Given the description of an element on the screen output the (x, y) to click on. 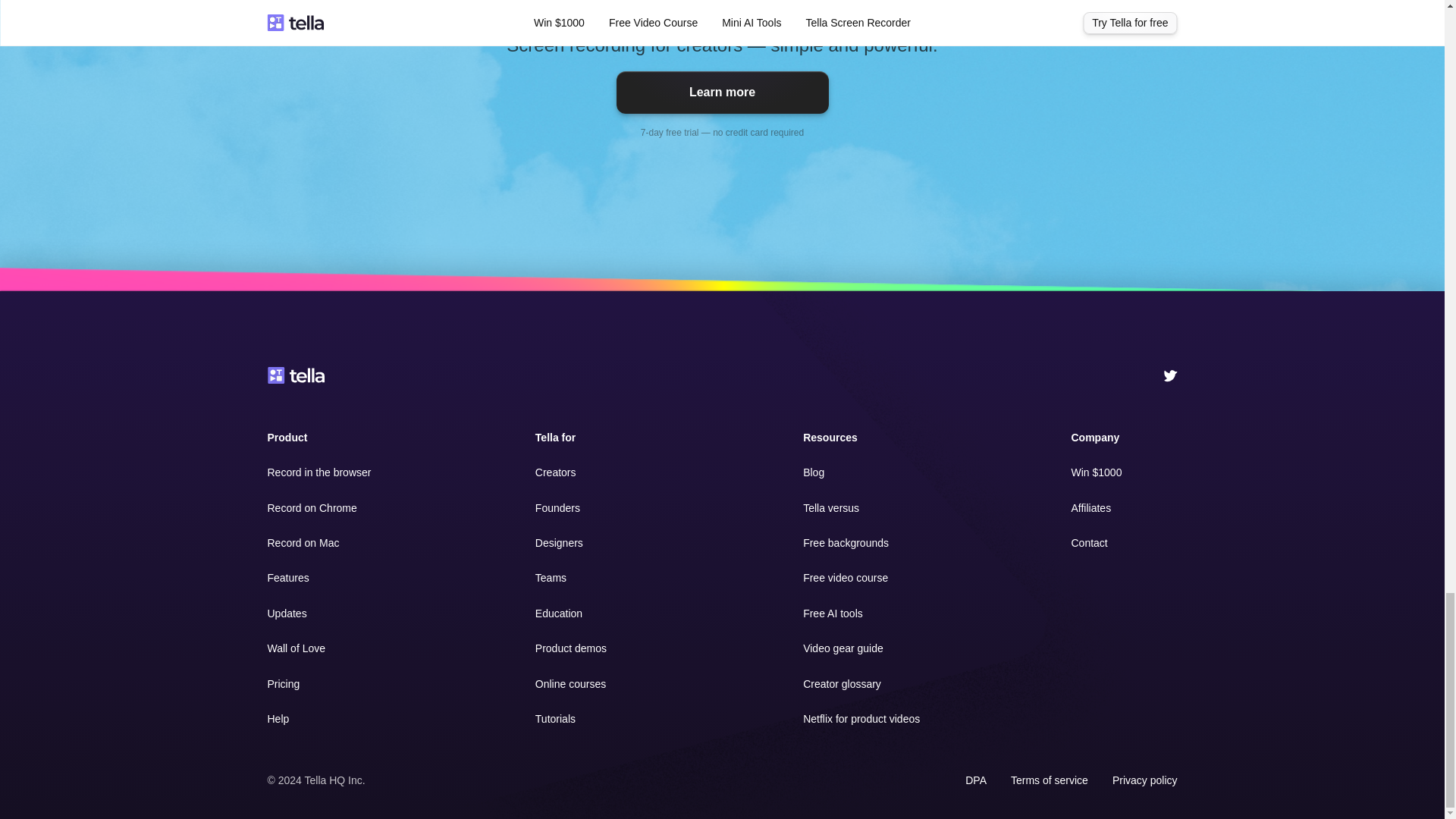
Learn more (721, 92)
Tutorials (555, 718)
Resources (830, 437)
Tella for (555, 437)
Product (286, 437)
Online courses (570, 684)
Founders (557, 508)
Updates (285, 613)
Video gear guide (843, 648)
Designers (559, 542)
Free AI tools (833, 613)
Record on Mac (302, 542)
Education (558, 613)
Wall of Love (295, 648)
Record on Chrome (311, 508)
